Given the description of an element on the screen output the (x, y) to click on. 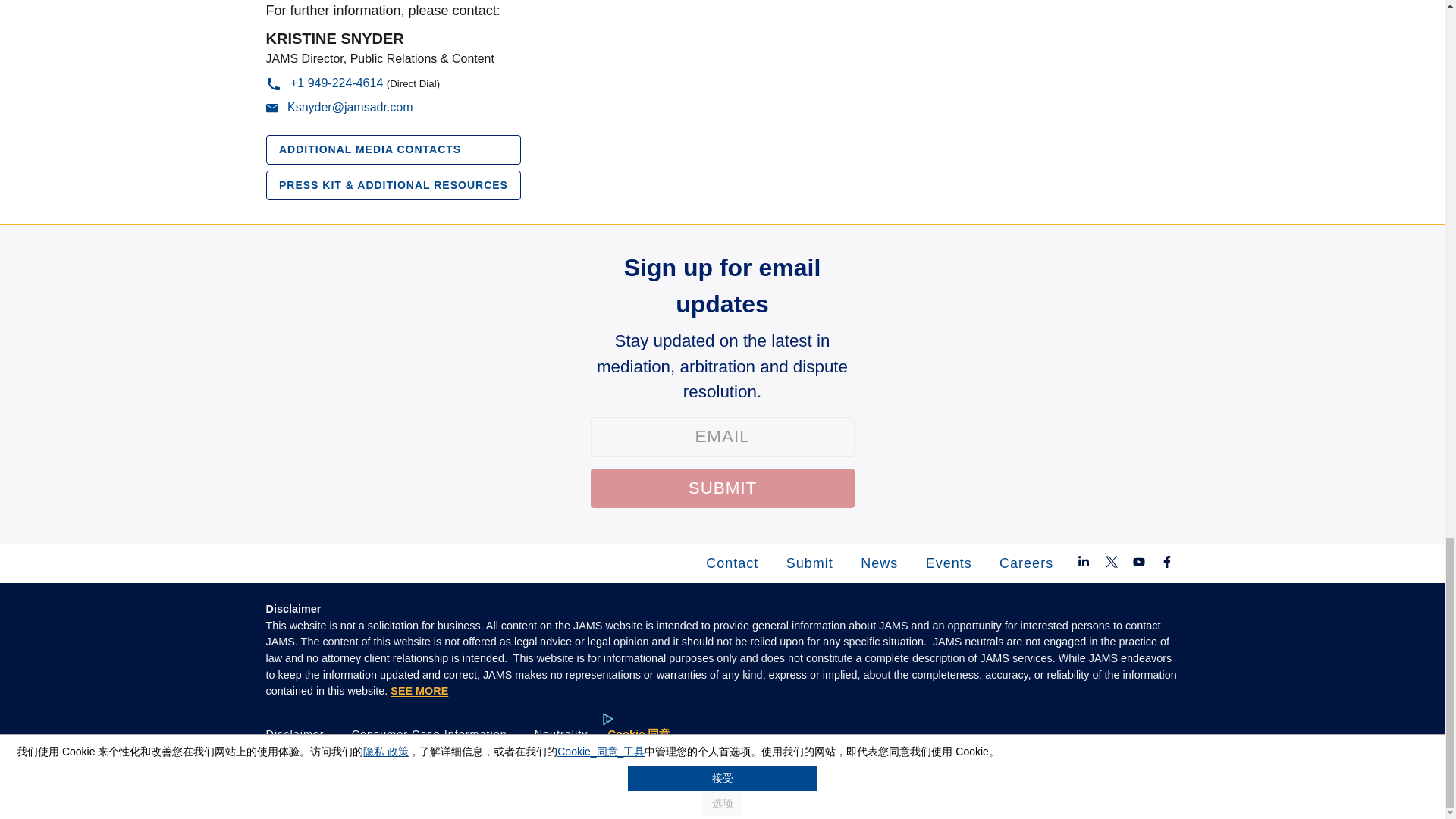
See More of Disclaimer (419, 690)
Facebook (1165, 563)
YouTube (1138, 563)
LinkedIn (1086, 563)
Twitter (1111, 563)
SUBMIT (721, 487)
